Given the description of an element on the screen output the (x, y) to click on. 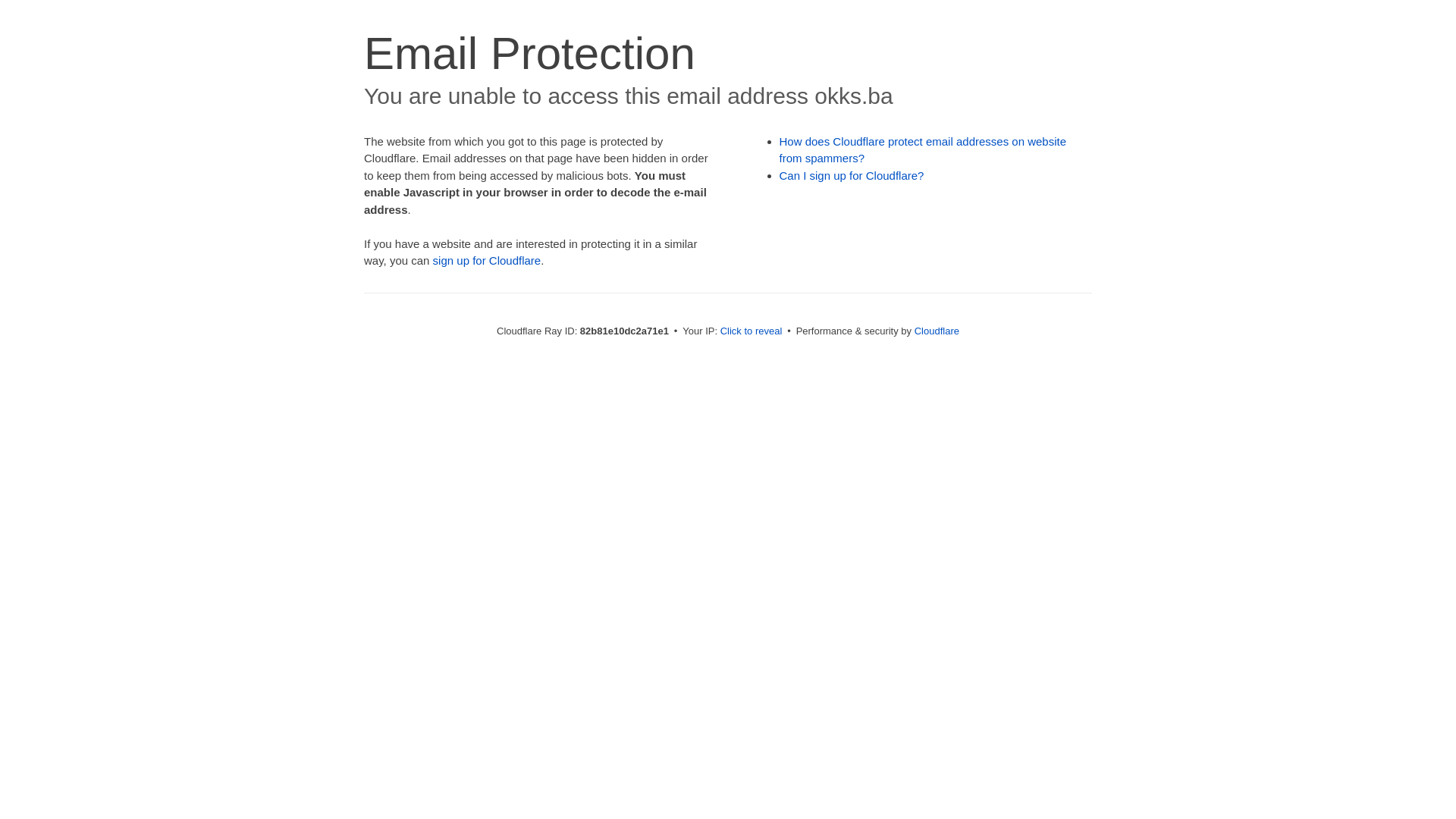
Can I sign up for Cloudflare? Element type: text (851, 175)
sign up for Cloudflare Element type: text (487, 260)
Cloudflare Element type: text (936, 330)
Click to reveal Element type: text (751, 330)
